Given the description of an element on the screen output the (x, y) to click on. 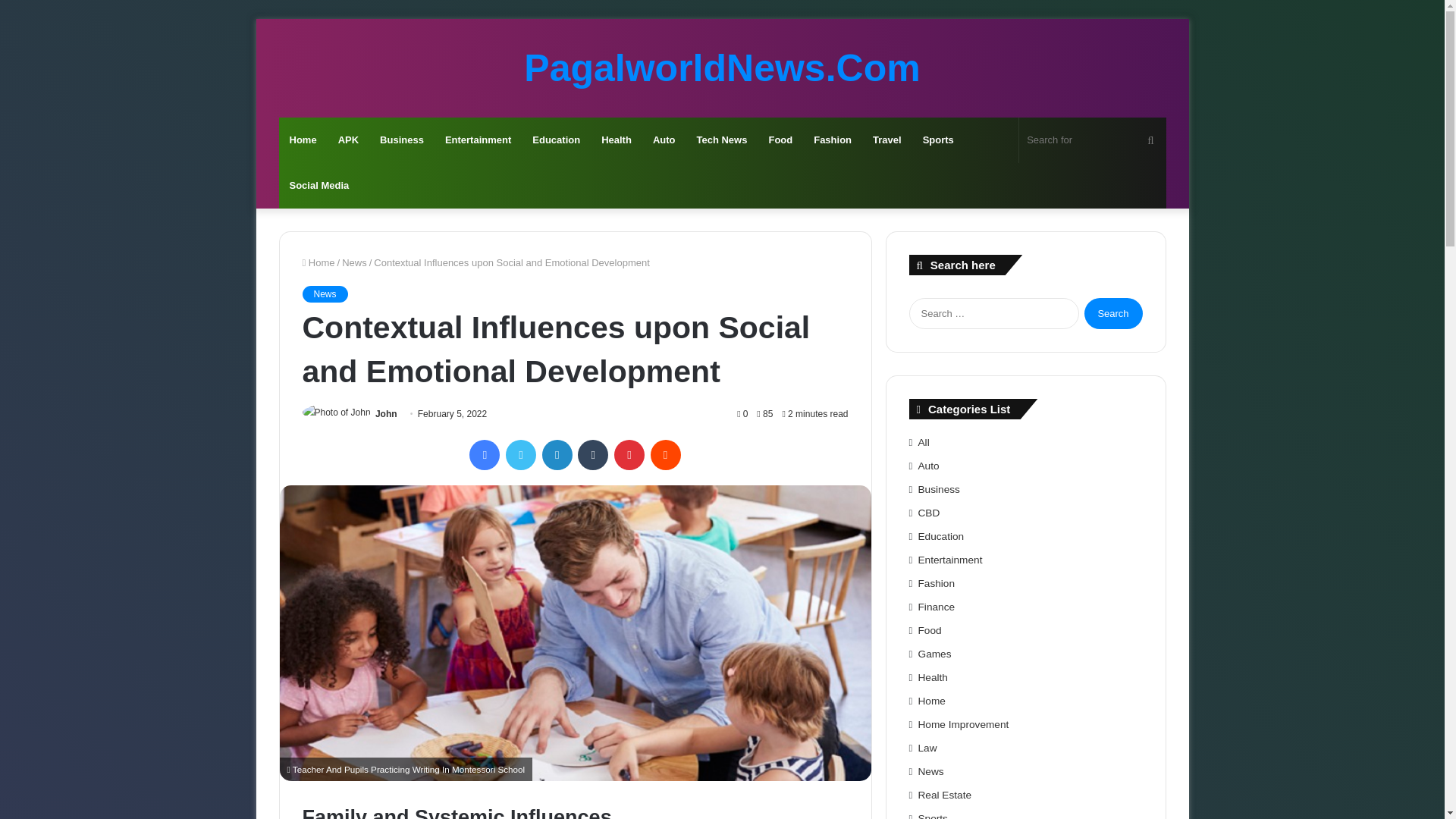
John (386, 413)
Auto (663, 139)
Reddit (665, 454)
Business (401, 139)
Search (1113, 313)
Food (780, 139)
Travel (886, 139)
Home (303, 139)
Fashion (832, 139)
PagalworldNews.Com (722, 67)
